Given the description of an element on the screen output the (x, y) to click on. 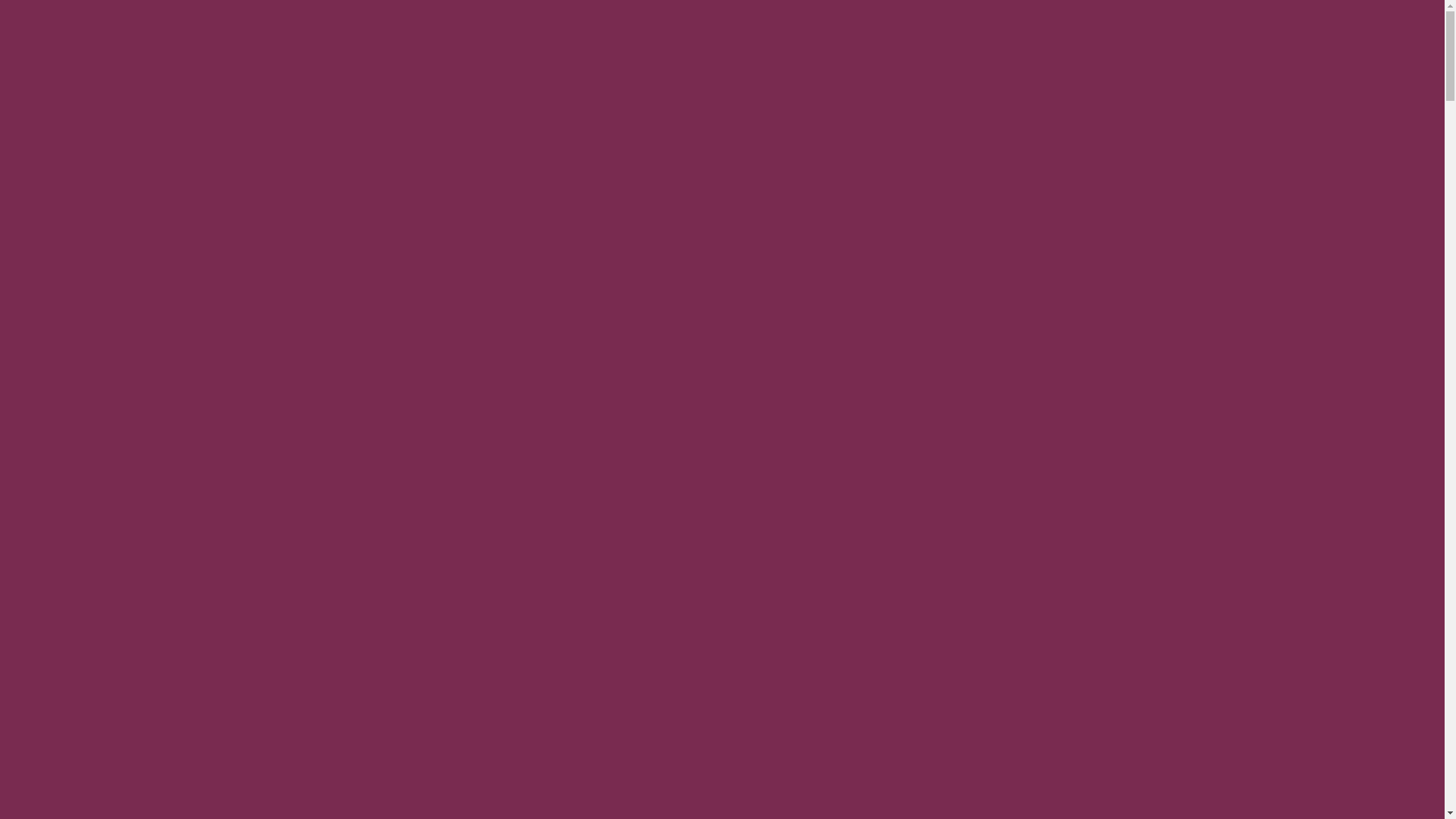
SCROLL DOWN Element type: text (113, 578)
MENU
Show/Hide Element type: text (1311, 68)
